Given the description of an element on the screen output the (x, y) to click on. 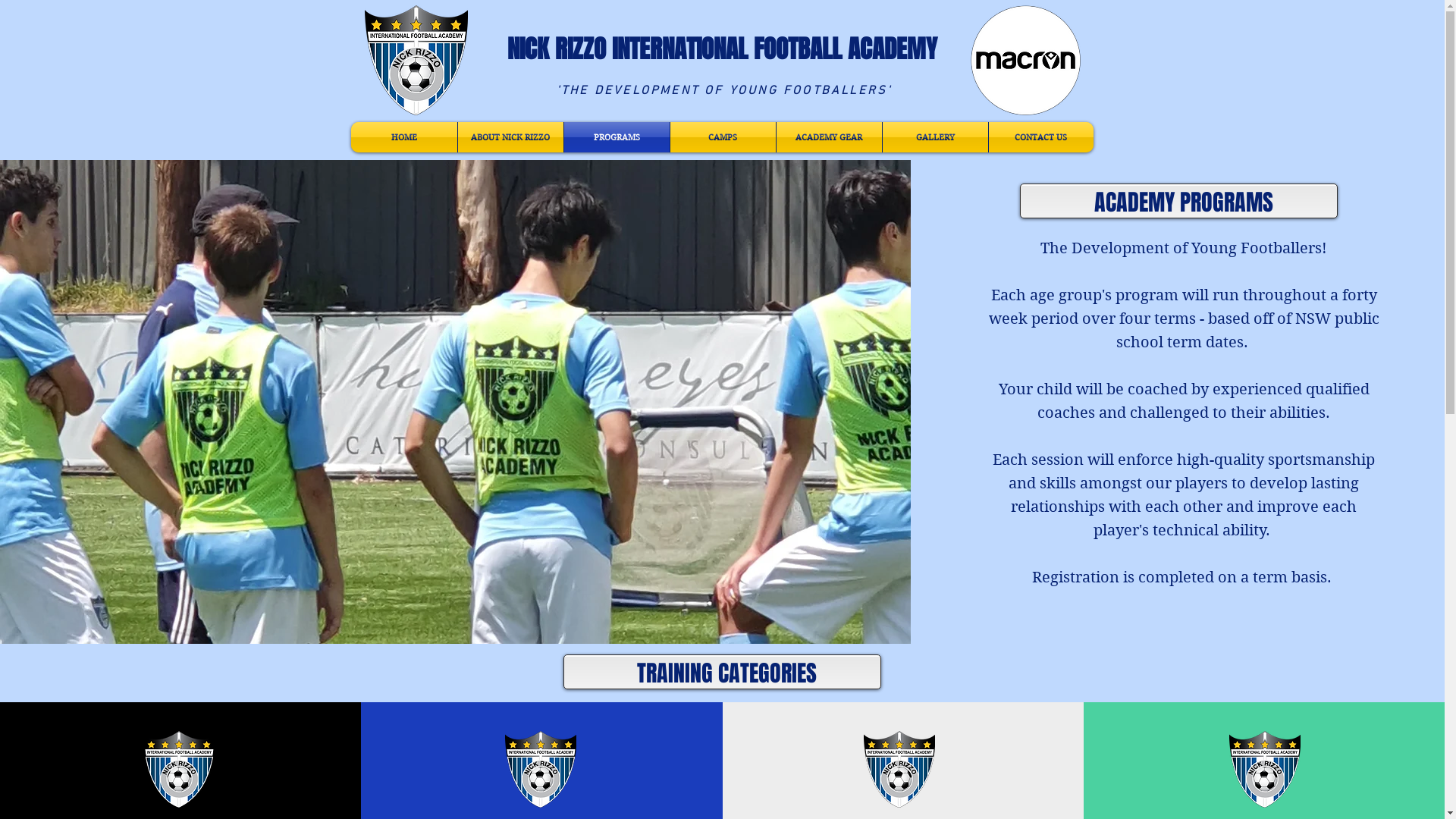
ABOUT NICK RIZZO Element type: text (510, 137)
HOME Element type: text (403, 137)
CAMPS Element type: text (722, 137)
NickRizzo.png Element type: hover (899, 769)
NICK RIZZO Element type: text (555, 48)
NickRizzo.png Element type: hover (540, 769)
NickRizzo.png Element type: hover (1264, 769)
PROGRAMS Element type: text (616, 137)
CONTACT US Element type: text (1040, 137)
NickRizzo.png Element type: hover (178, 769)
GALLERY Element type: text (935, 137)
macron.png Element type: hover (1025, 60)
ACADEMY GEAR Element type: text (828, 137)
